Given the description of an element on the screen output the (x, y) to click on. 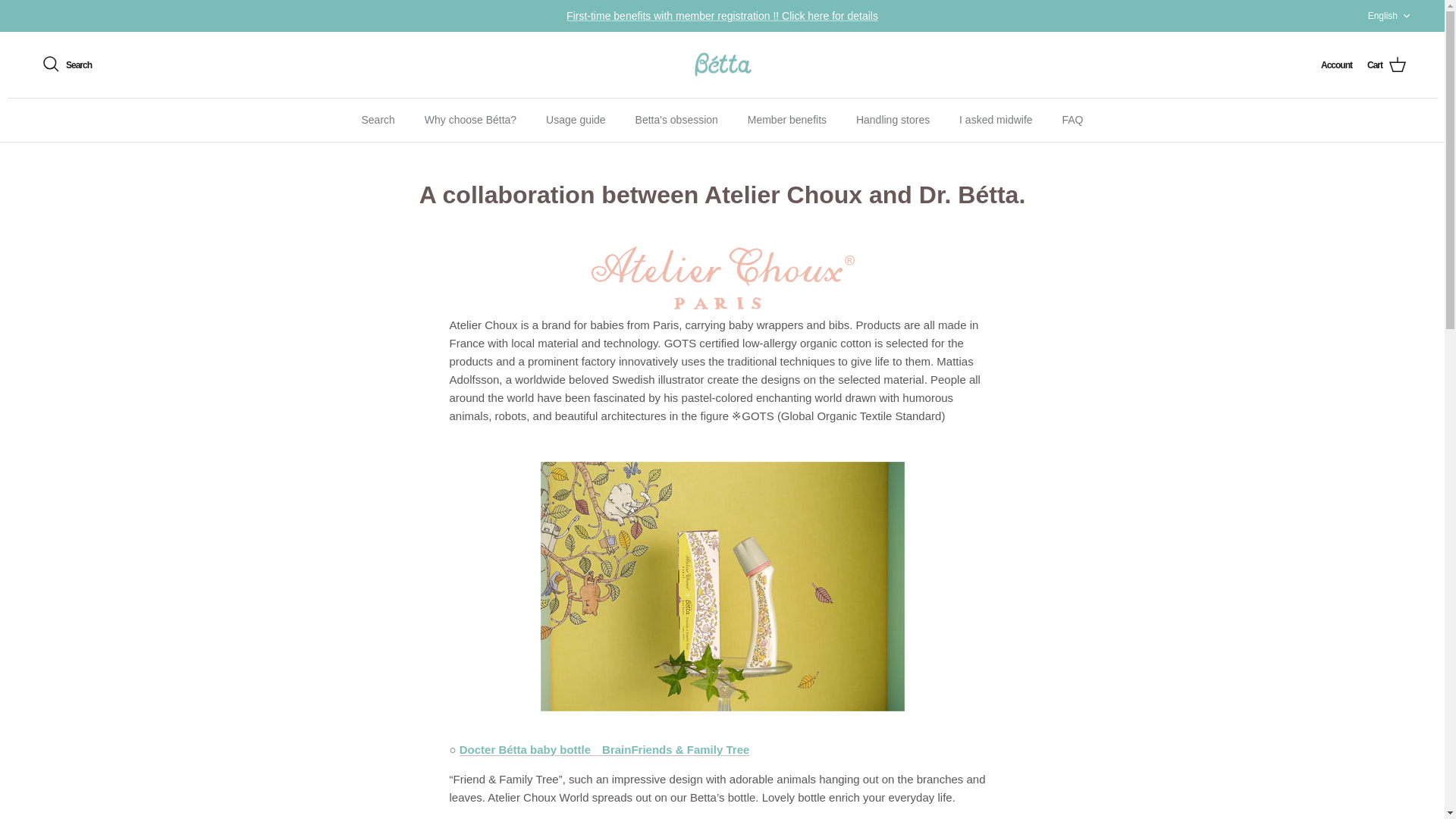
Betta Baby Store (721, 64)
